Given the description of an element on the screen output the (x, y) to click on. 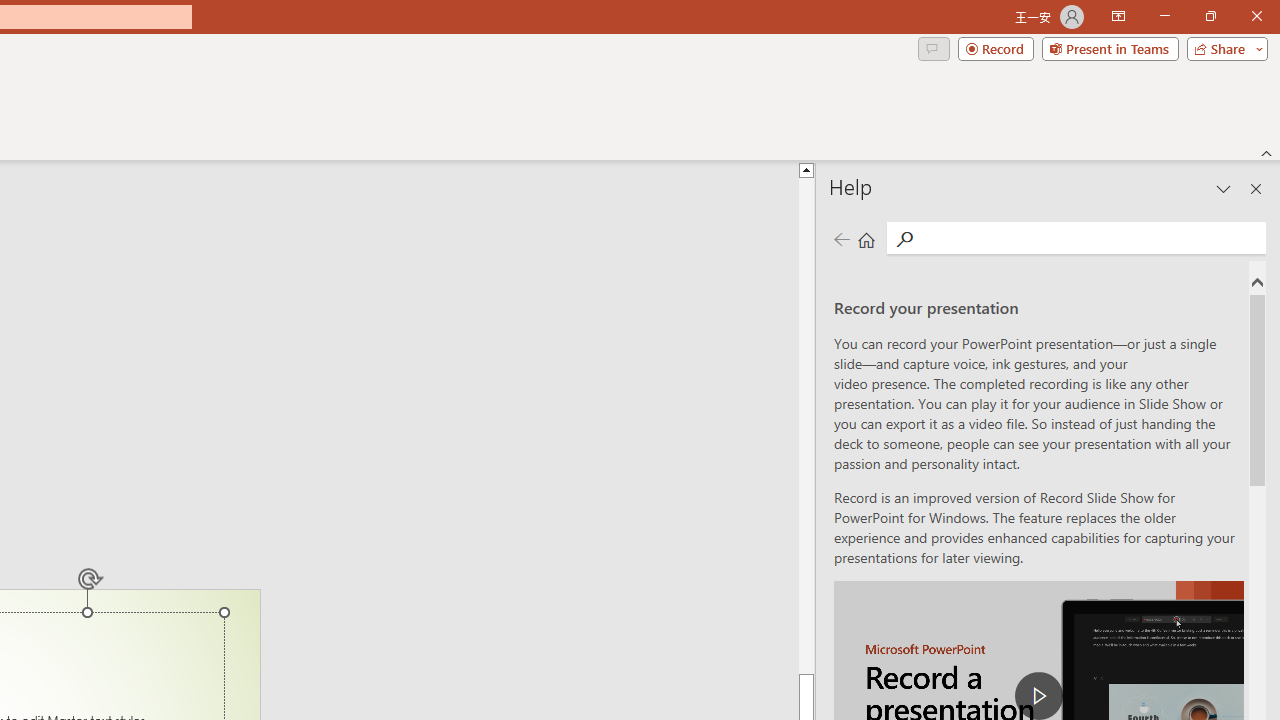
play Record a Presentation (1038, 695)
Close pane (1256, 188)
Close (1256, 16)
Present in Teams (1109, 48)
